Given the description of an element on the screen output the (x, y) to click on. 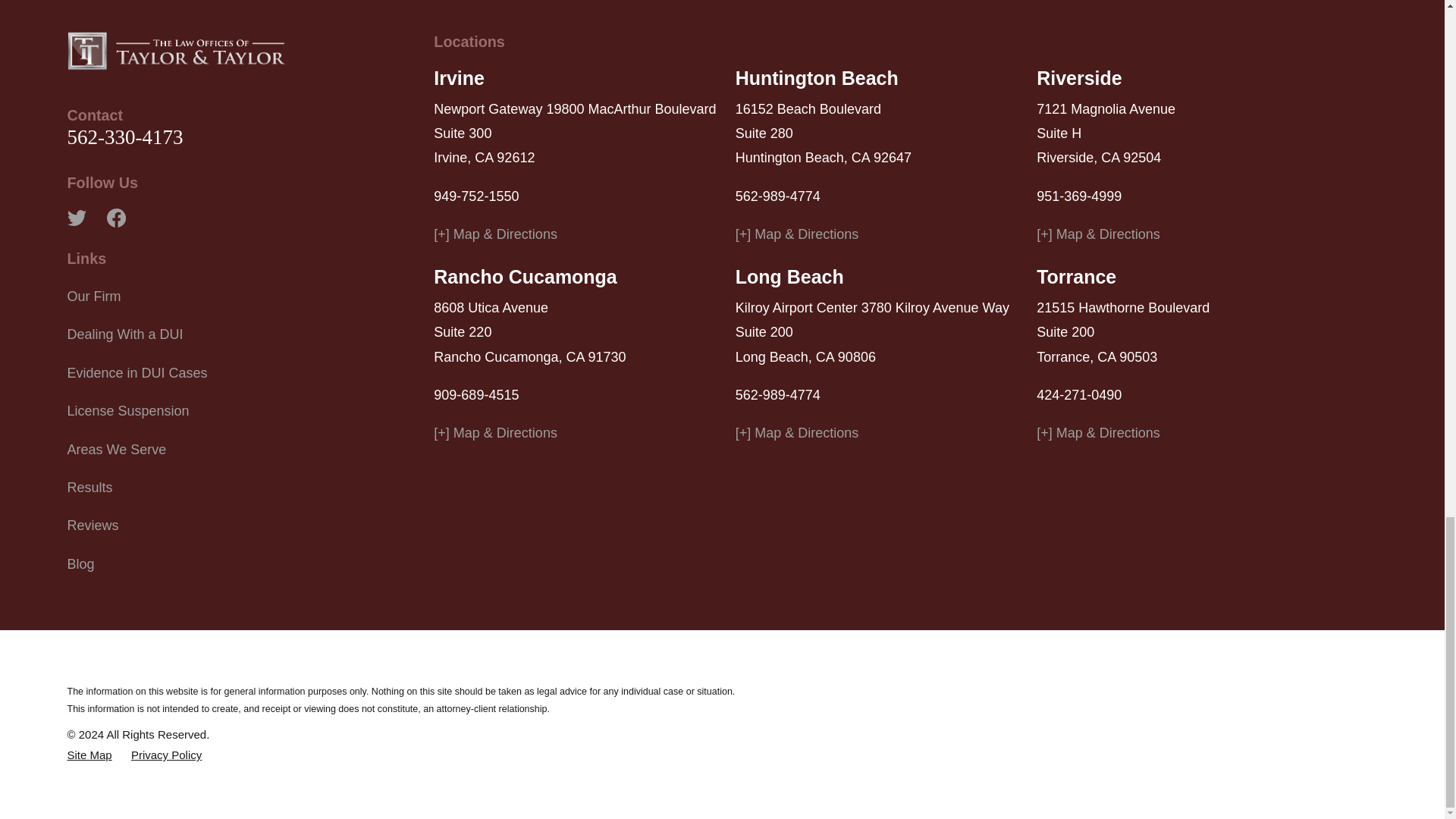
Twitter (75, 217)
Facebook (115, 217)
Home (175, 50)
